Given the description of an element on the screen output the (x, y) to click on. 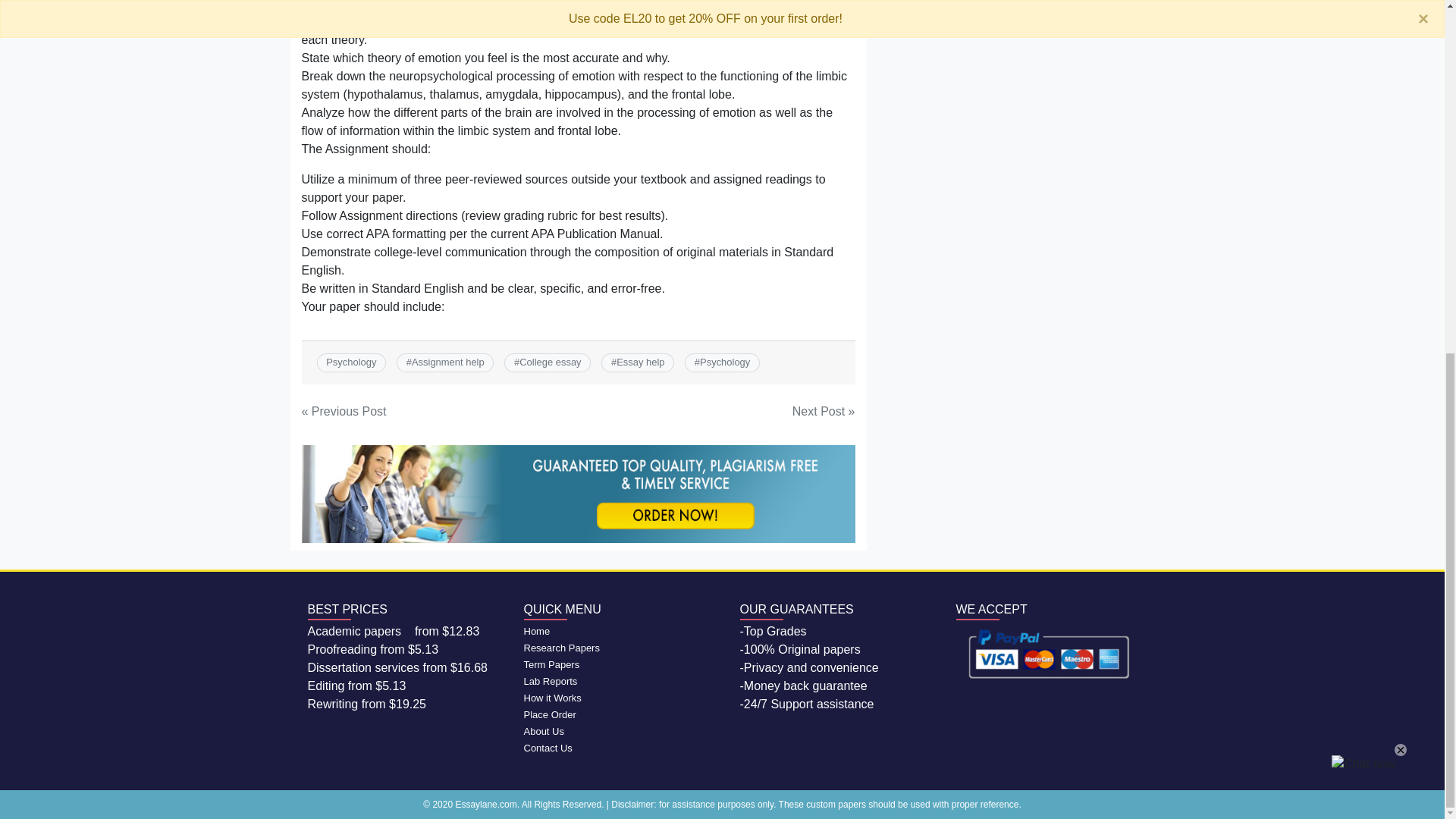
Psychology (724, 361)
How it Works (551, 697)
Psychology (350, 361)
College essay (549, 361)
Research Papers (560, 647)
Term Papers (550, 664)
Place Order (548, 714)
Home (536, 631)
Contact Us (547, 747)
Essay help (639, 361)
Lab Reports (549, 681)
About Us (542, 731)
Assignment help (448, 361)
